Given the description of an element on the screen output the (x, y) to click on. 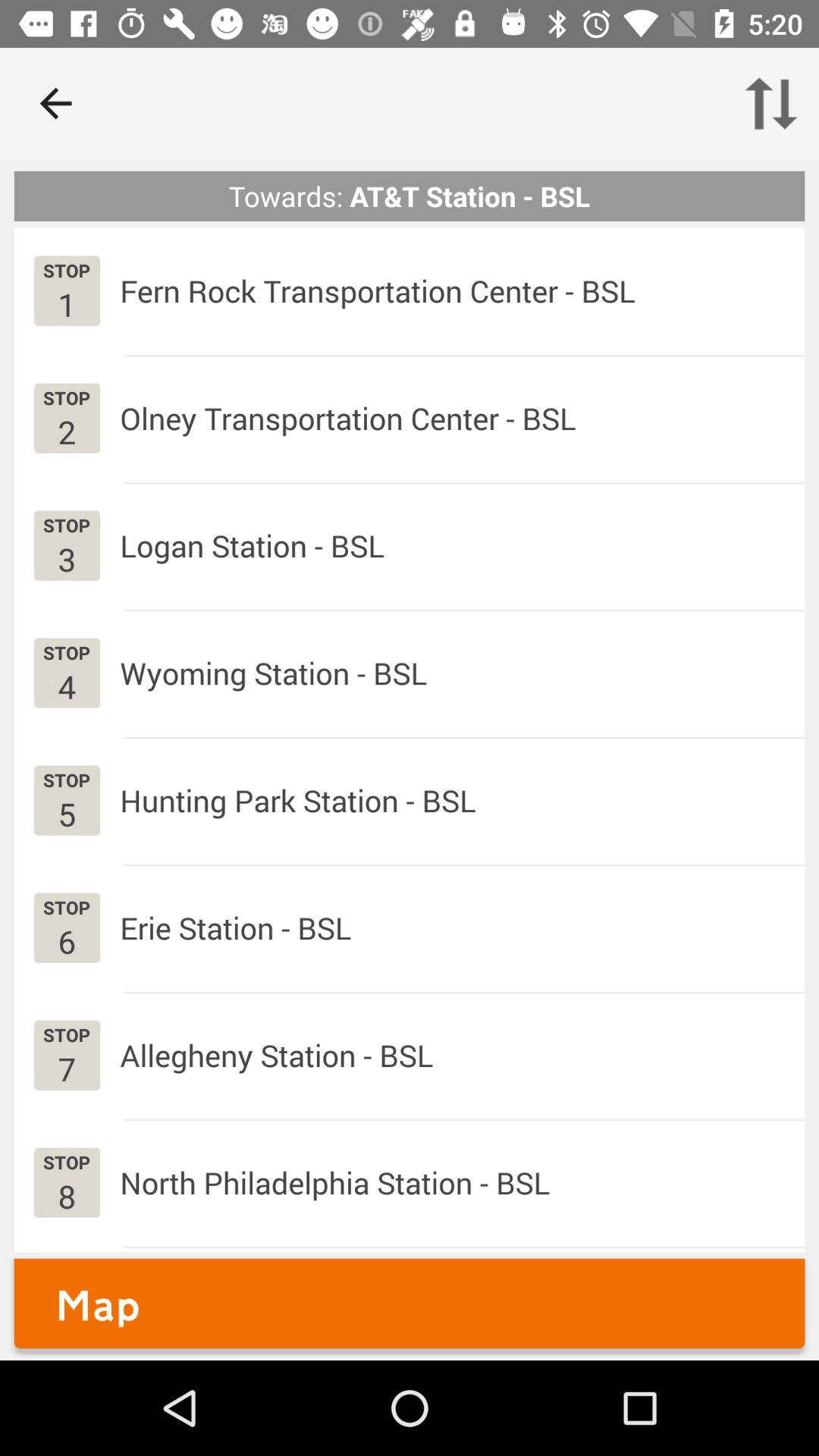
flip to map item (409, 1303)
